Given the description of an element on the screen output the (x, y) to click on. 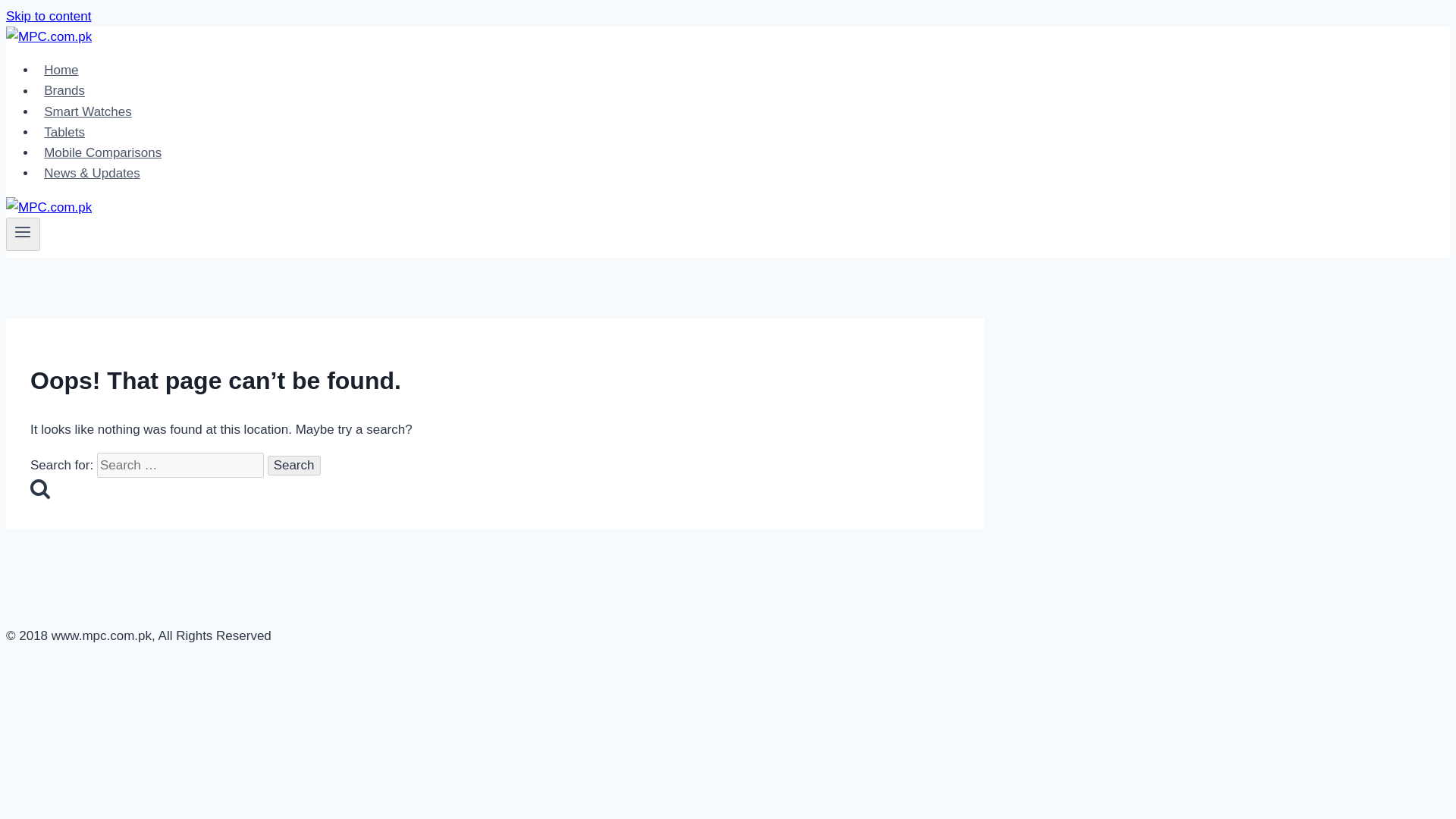
Home (60, 70)
Toggle Menu (22, 233)
Mobile Comparisons (102, 152)
Skip to content (47, 16)
Search (293, 465)
Skip to content (47, 16)
Search (293, 465)
Brands (64, 90)
Tablets (64, 132)
Search (293, 465)
